Given the description of an element on the screen output the (x, y) to click on. 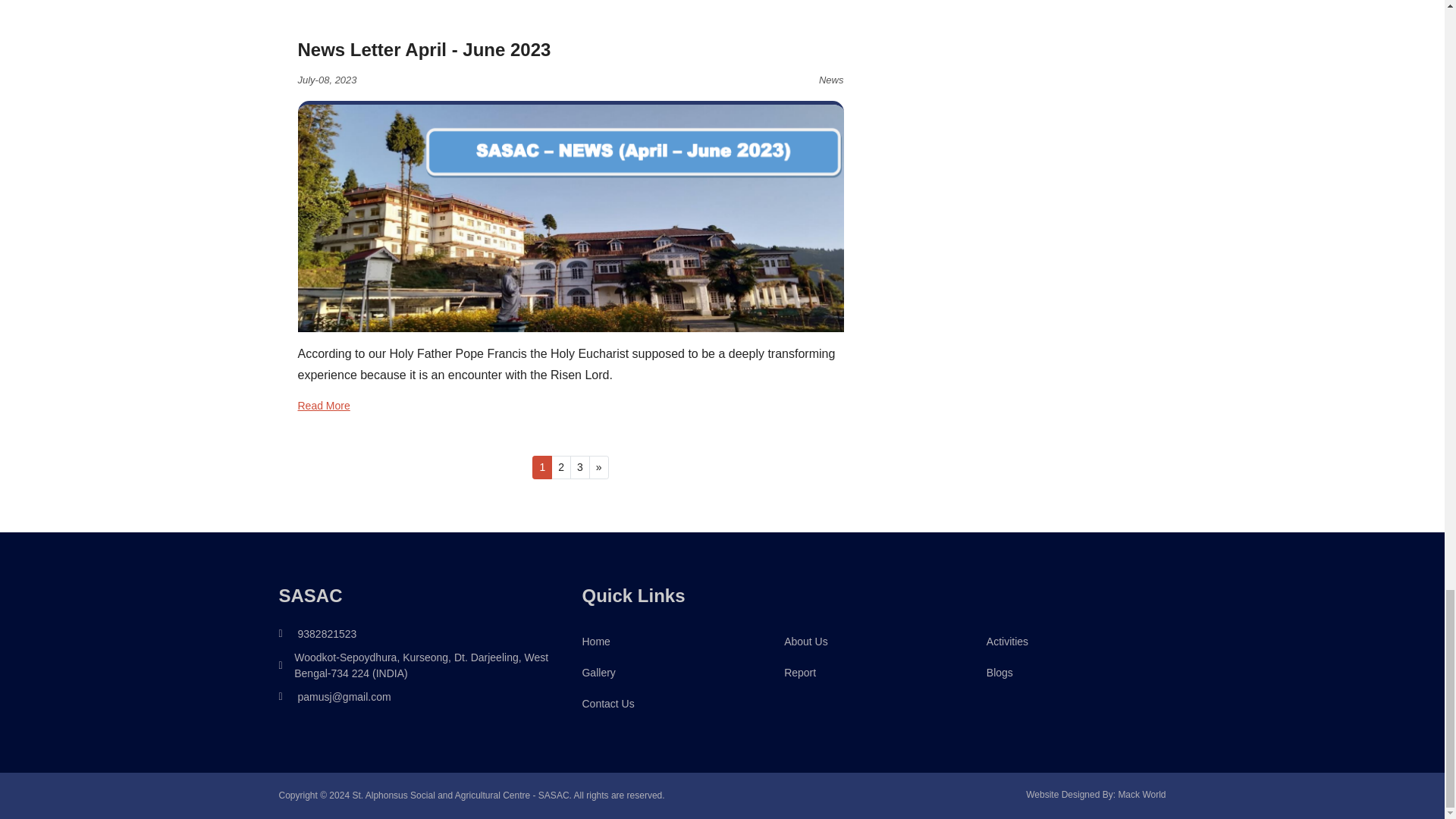
Activities (1007, 641)
Gallery (597, 672)
About Us (806, 641)
Read More (570, 406)
Home (595, 641)
9382821523 (326, 634)
